Given the description of an element on the screen output the (x, y) to click on. 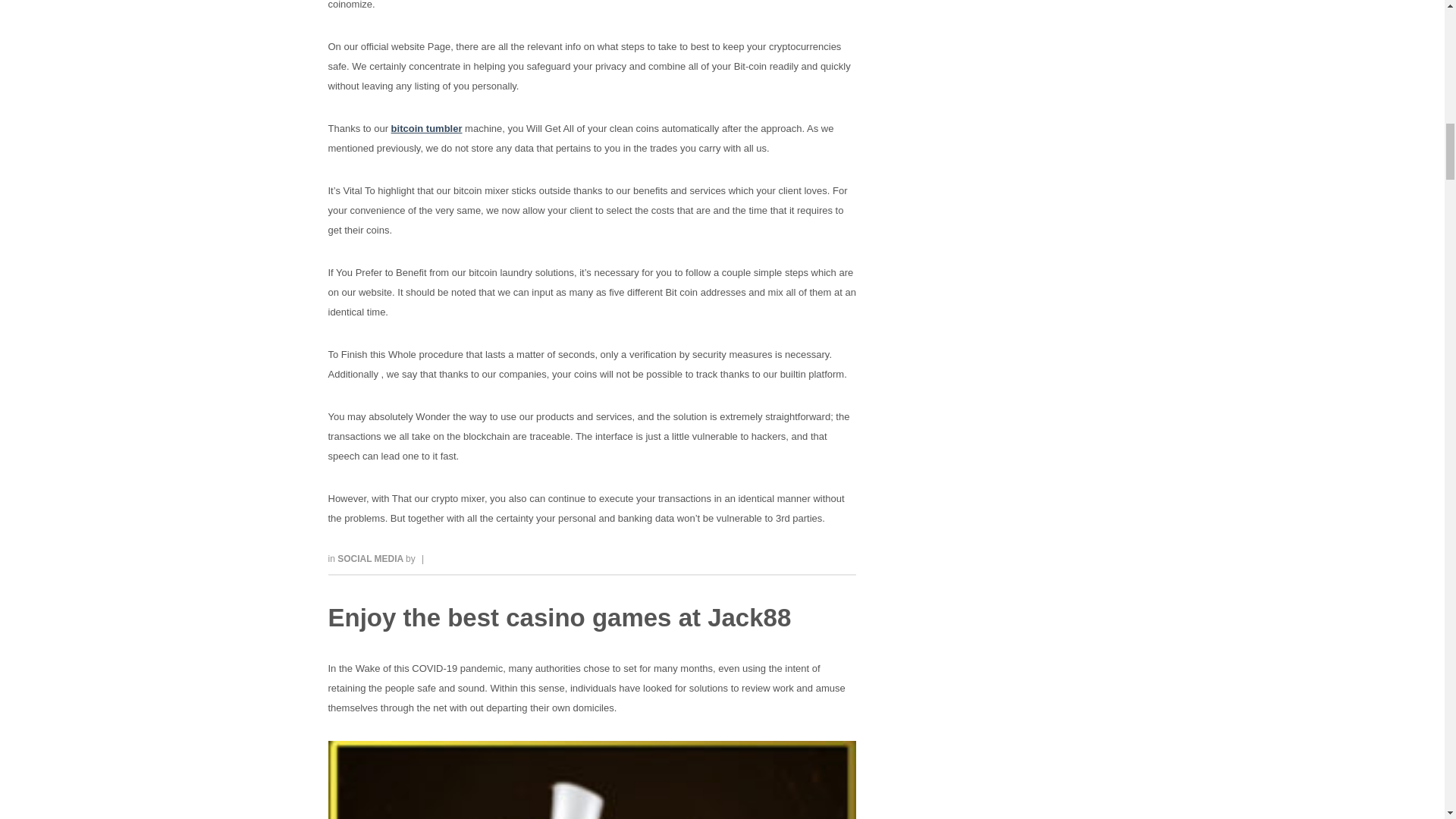
bitcoin tumbler (427, 128)
SOCIAL MEDIA (371, 558)
Enjoy the best casino games at Jack88 (558, 617)
